Given the description of an element on the screen output the (x, y) to click on. 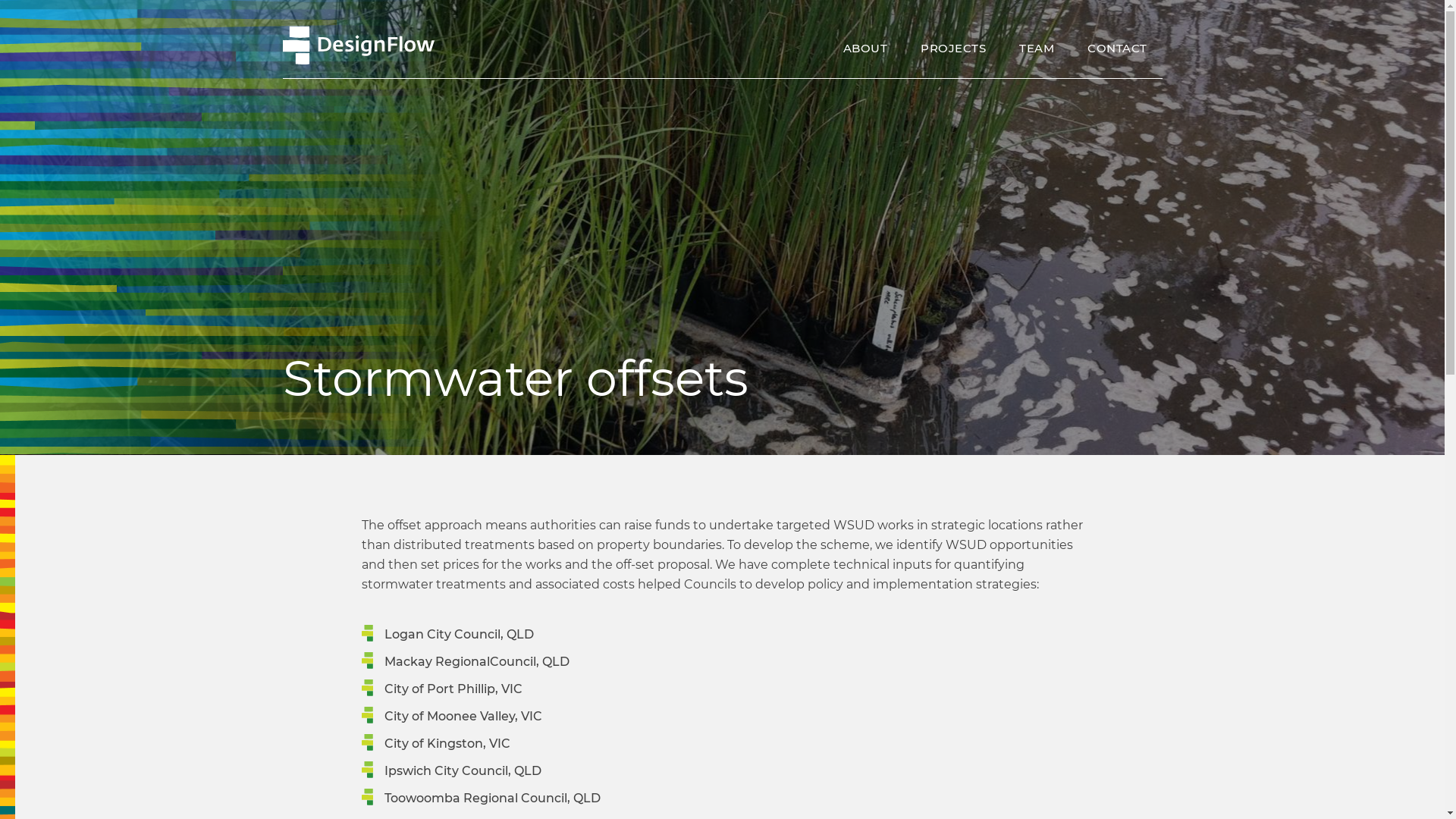
TEAM Element type: text (1036, 48)
CONTACT Element type: text (1117, 48)
ABOUT Element type: text (865, 48)
PROJECTS Element type: text (953, 48)
